Given the description of an element on the screen output the (x, y) to click on. 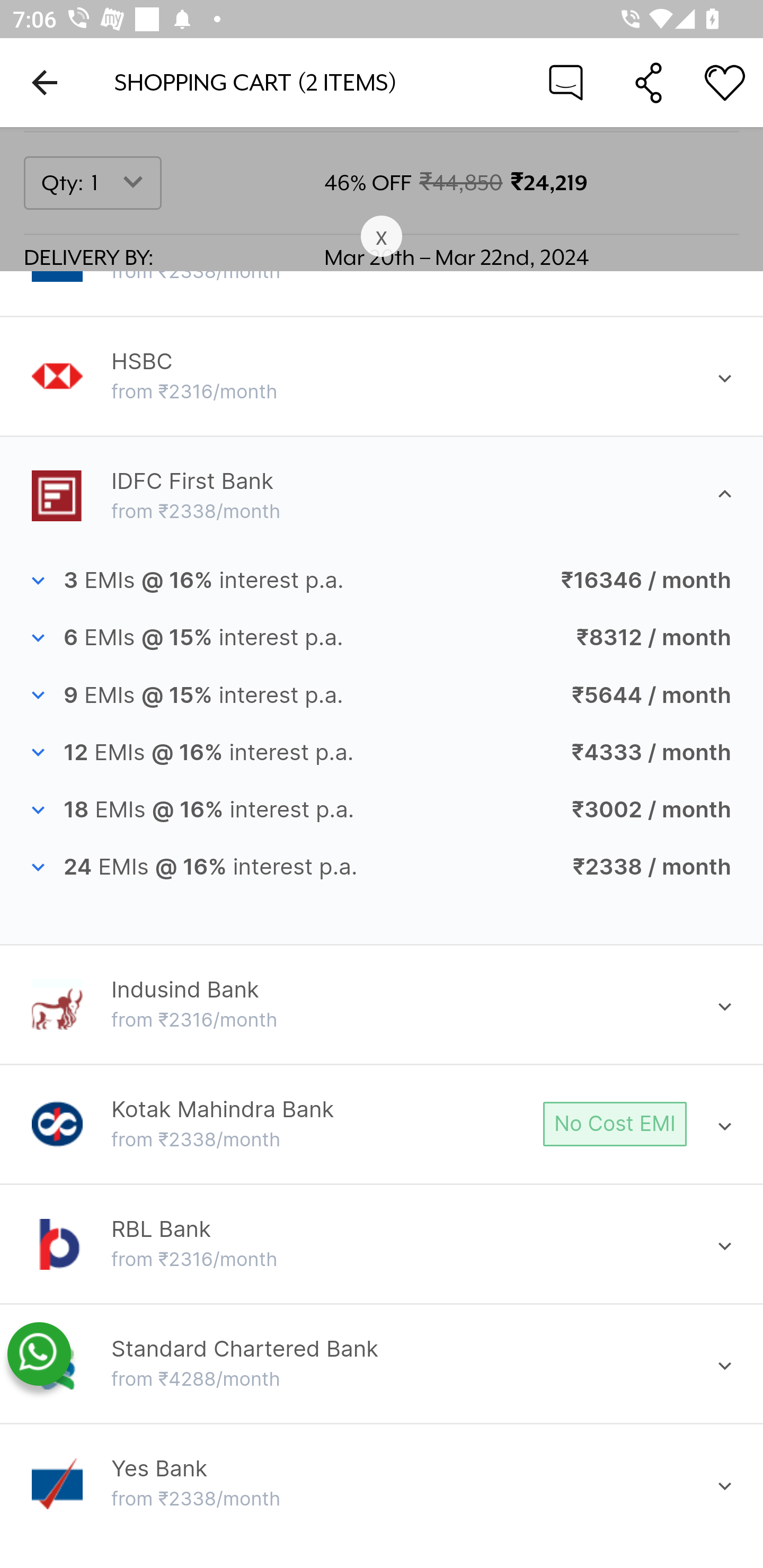
Navigate up (44, 82)
Chat (565, 81)
Share Cart (648, 81)
Wishlist (724, 81)
x (381, 237)
HSBC HSBC from ₹2316/month (381, 376)
IDFC First Bank IDFC First Bank from ₹2338/month (381, 495)
3 EMIs @ 16% interest p.a. ₹16346 / month (381, 580)
6 EMIs @ 15% interest p.a. ₹8312 / month (381, 638)
9 EMIs @ 15% interest p.a. ₹5644 / month (381, 695)
12 EMIs @ 16% interest p.a. ₹4333 / month (381, 753)
18 EMIs @ 16% interest p.a. ₹3002 / month (381, 811)
24 EMIs @ 16% interest p.a. ₹2338 / month (381, 867)
Indusind Bank Indusind Bank from ₹2316/month (381, 1004)
RBL Bank RBL Bank from ₹2316/month (381, 1244)
whatsapp (38, 1354)
Yes Bank Yes Bank from ₹2338/month (381, 1484)
